Given the description of an element on the screen output the (x, y) to click on. 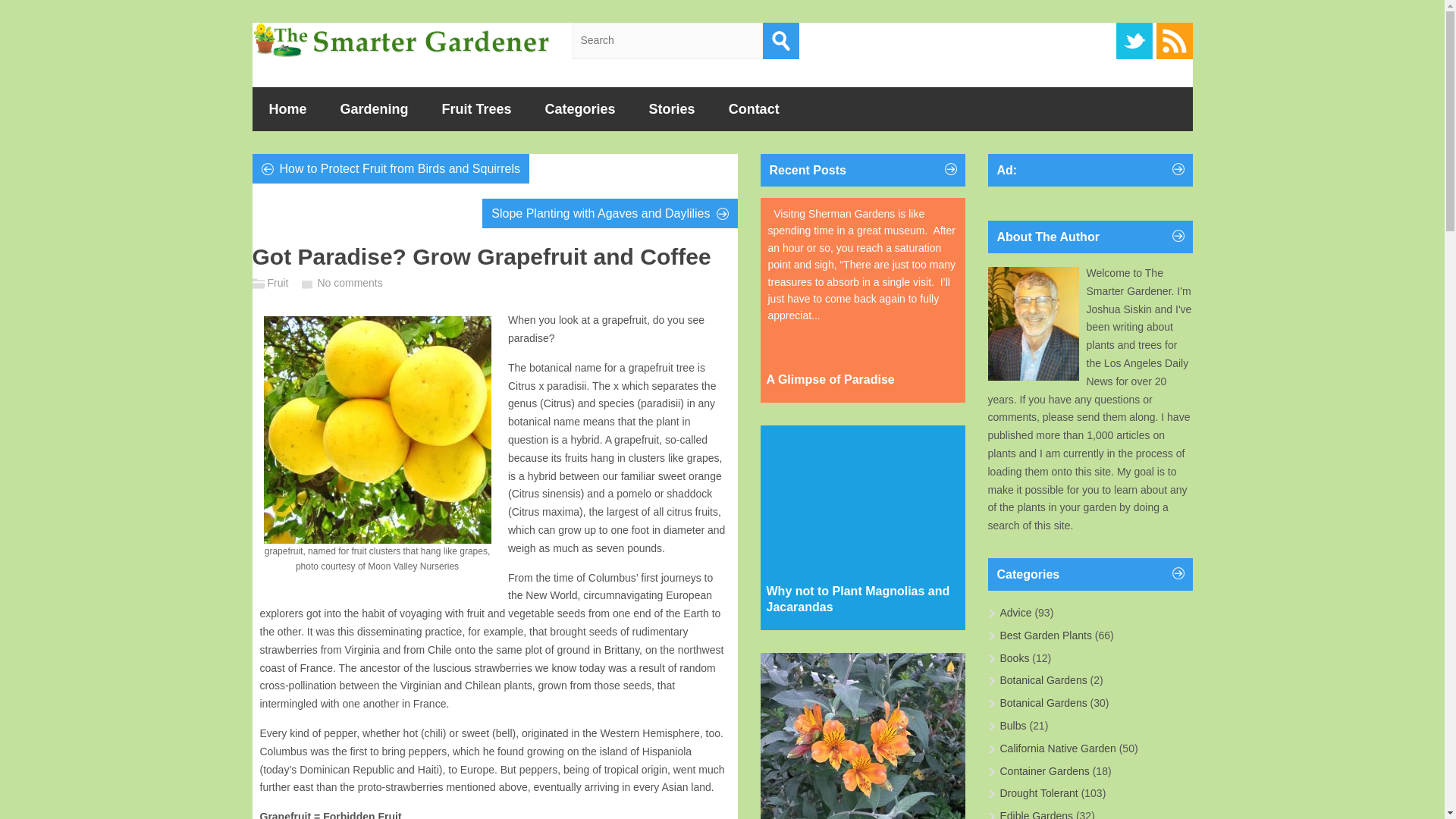
Fruit Trees (476, 108)
Gardening (374, 108)
Stories (671, 108)
A Glimpse of Paradise (829, 380)
Fruit (277, 282)
Twitter (1134, 40)
Search (780, 40)
RSS (1174, 40)
Slope Planting with Agaves and Daylilies (610, 213)
Search (780, 40)
The Smarter Gardener (399, 39)
Categories (579, 108)
Home (287, 108)
Advice (1014, 612)
Why not to Plant Magnolias and Jacarandas (857, 599)
